Given the description of an element on the screen output the (x, y) to click on. 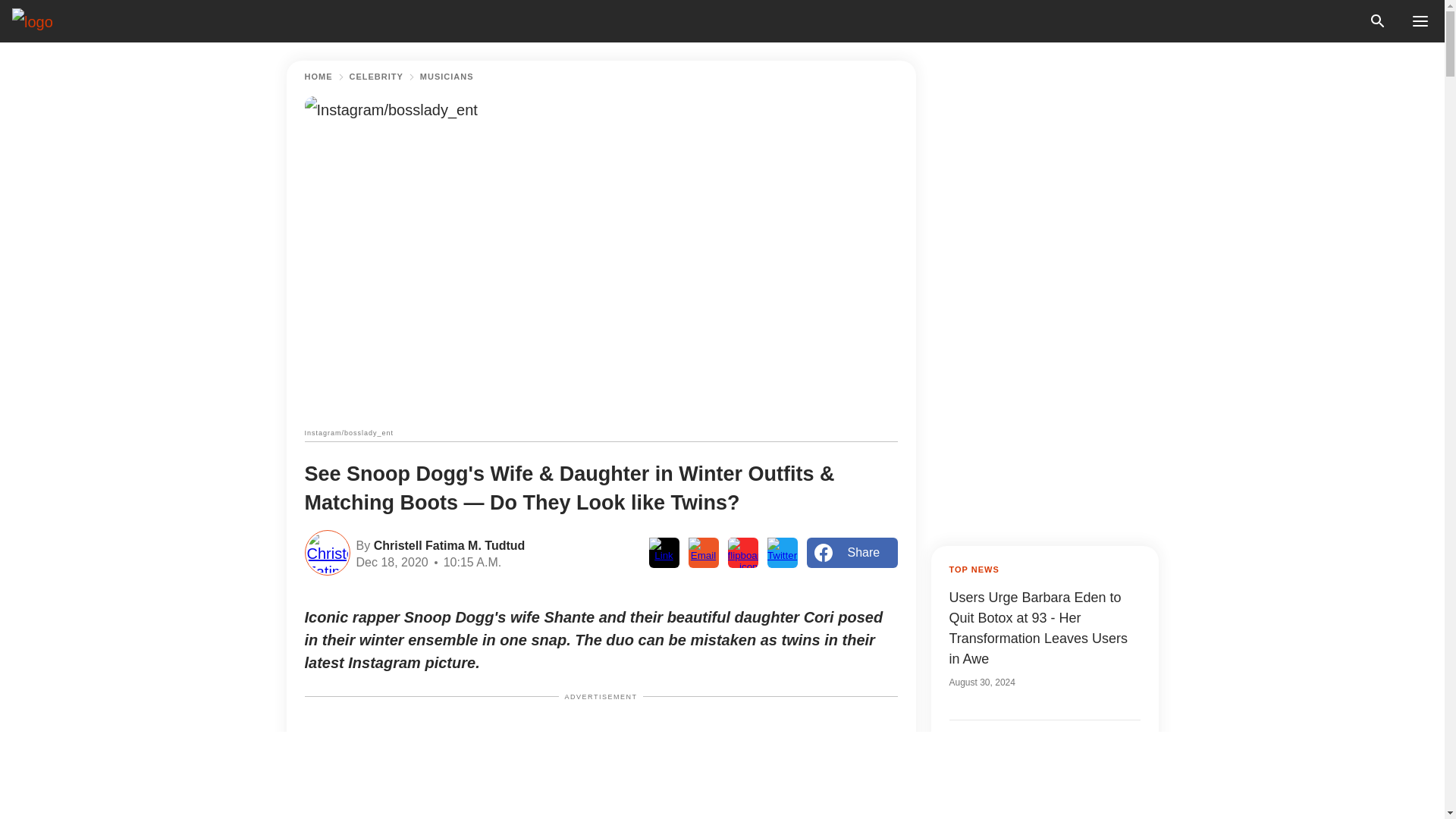
HOME (318, 76)
Christell Fatima M. Tudtud (446, 544)
MUSICIANS (447, 76)
CELEBRITY (376, 76)
